Given the description of an element on the screen output the (x, y) to click on. 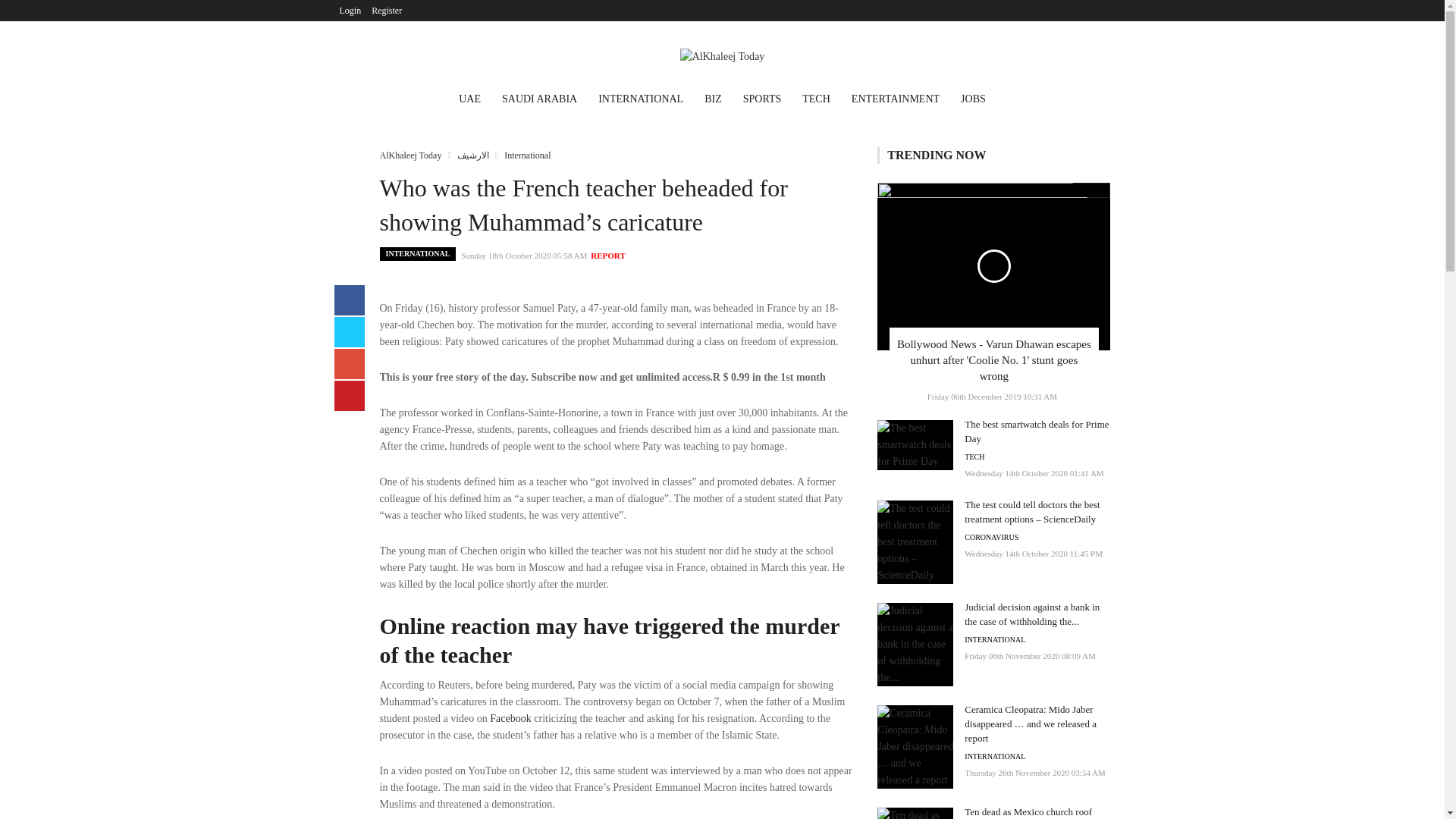
BIZ (713, 100)
SAUDI ARABIA (540, 100)
JOBS (972, 100)
AlKhaleej Today (409, 154)
ENTERTAINMENT (895, 100)
INTERNATIONAL (641, 100)
International (526, 154)
UAE (470, 100)
INTERNATIONAL (416, 254)
The best smartwatch deals for Prime Day (1035, 431)
Facebook (510, 717)
SPORTS (762, 100)
REPORT (607, 255)
TECH (816, 100)
